Given the description of an element on the screen output the (x, y) to click on. 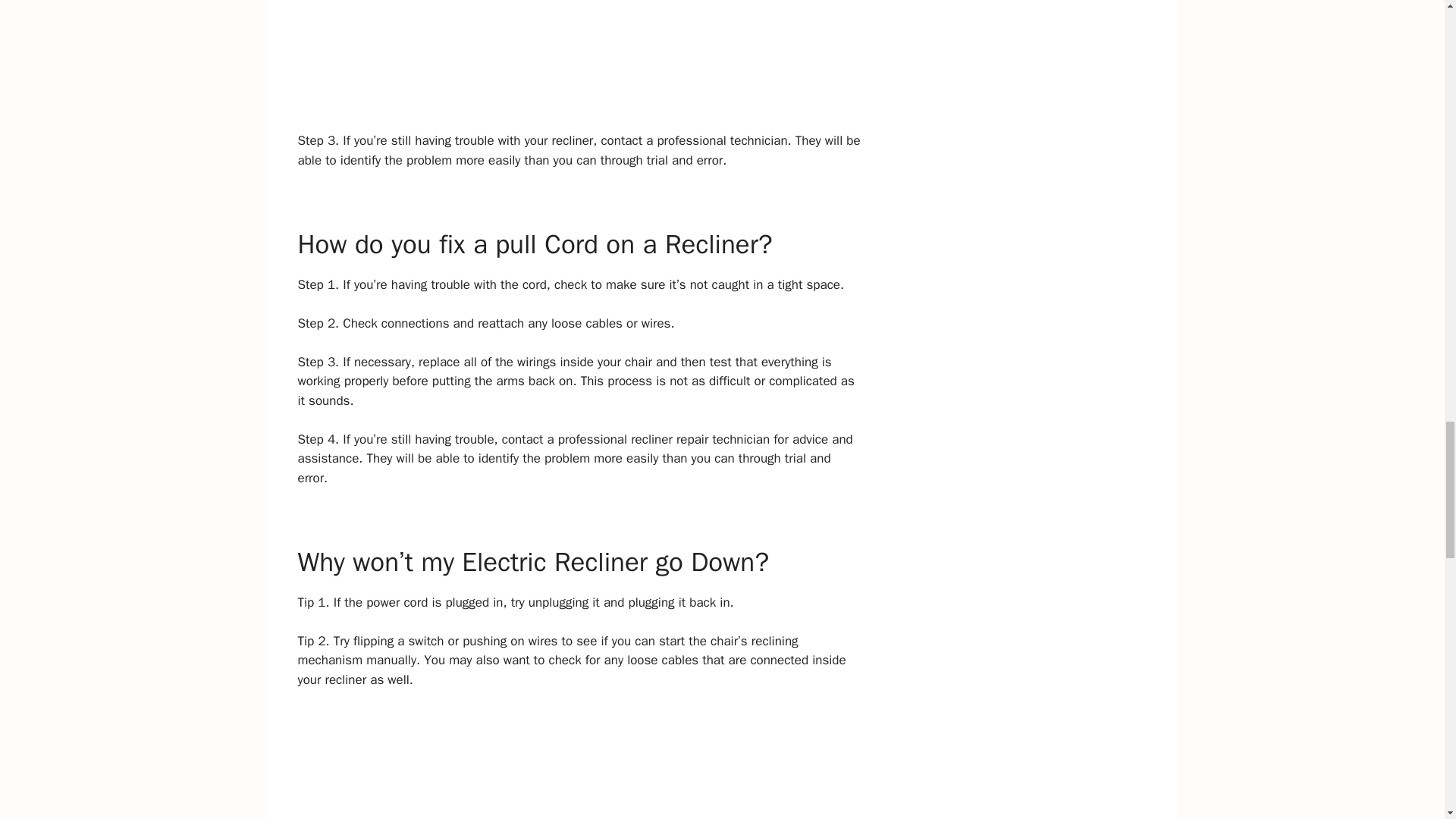
Advertisement (579, 65)
